Given the description of an element on the screen output the (x, y) to click on. 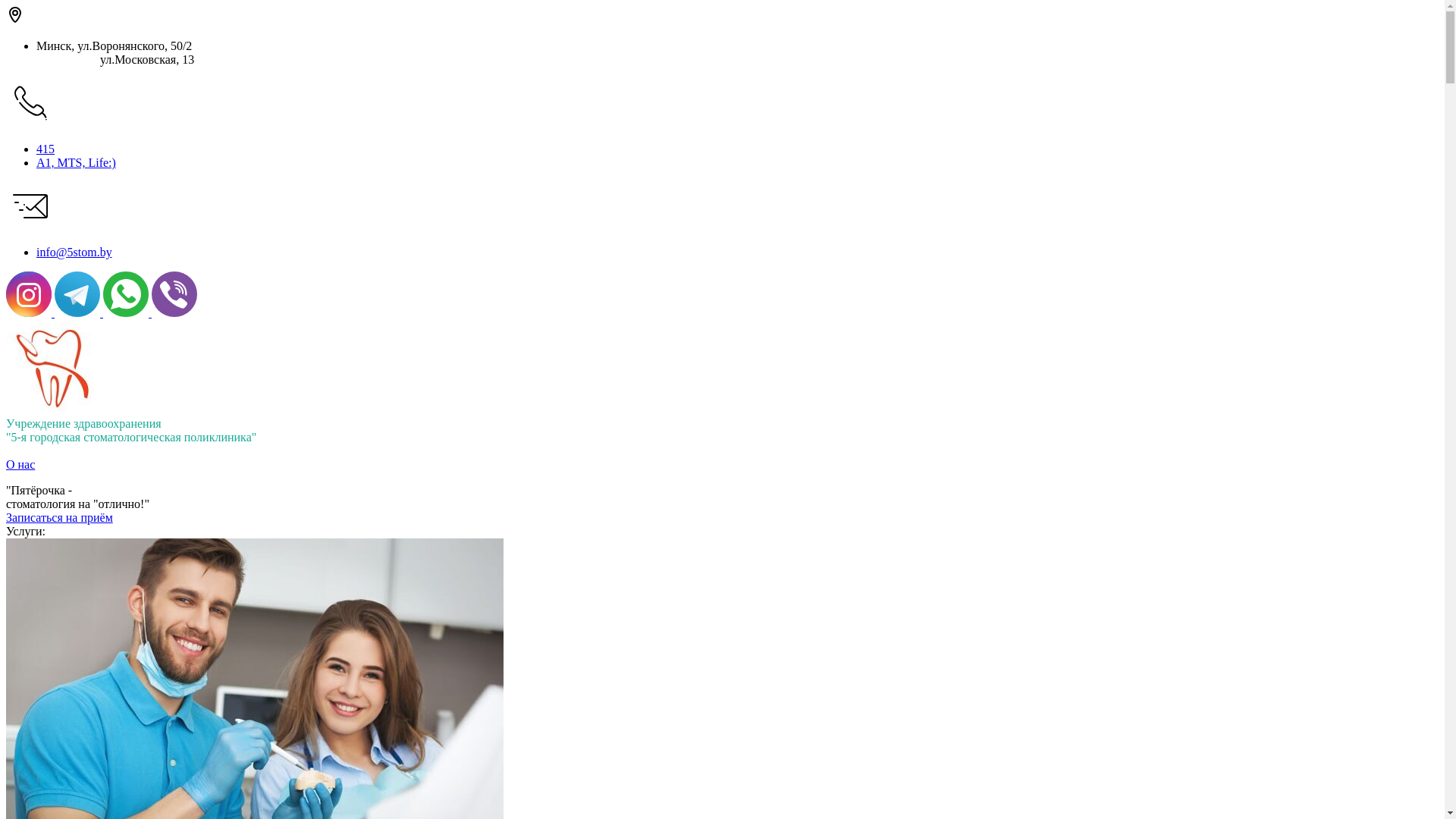
Viber Created with Sketch. Element type: text (174, 312)
415 Element type: text (45, 148)
info@5stom.by Element type: text (74, 251)
Whatsapp Created with Sketch. Element type: text (127, 312)
A1, MTS, Life:) Element type: text (76, 162)
Telegram Created with Sketch. Element type: text (78, 312)
Instagram Created with Sketch. Element type: text (30, 312)
